Given the description of an element on the screen output the (x, y) to click on. 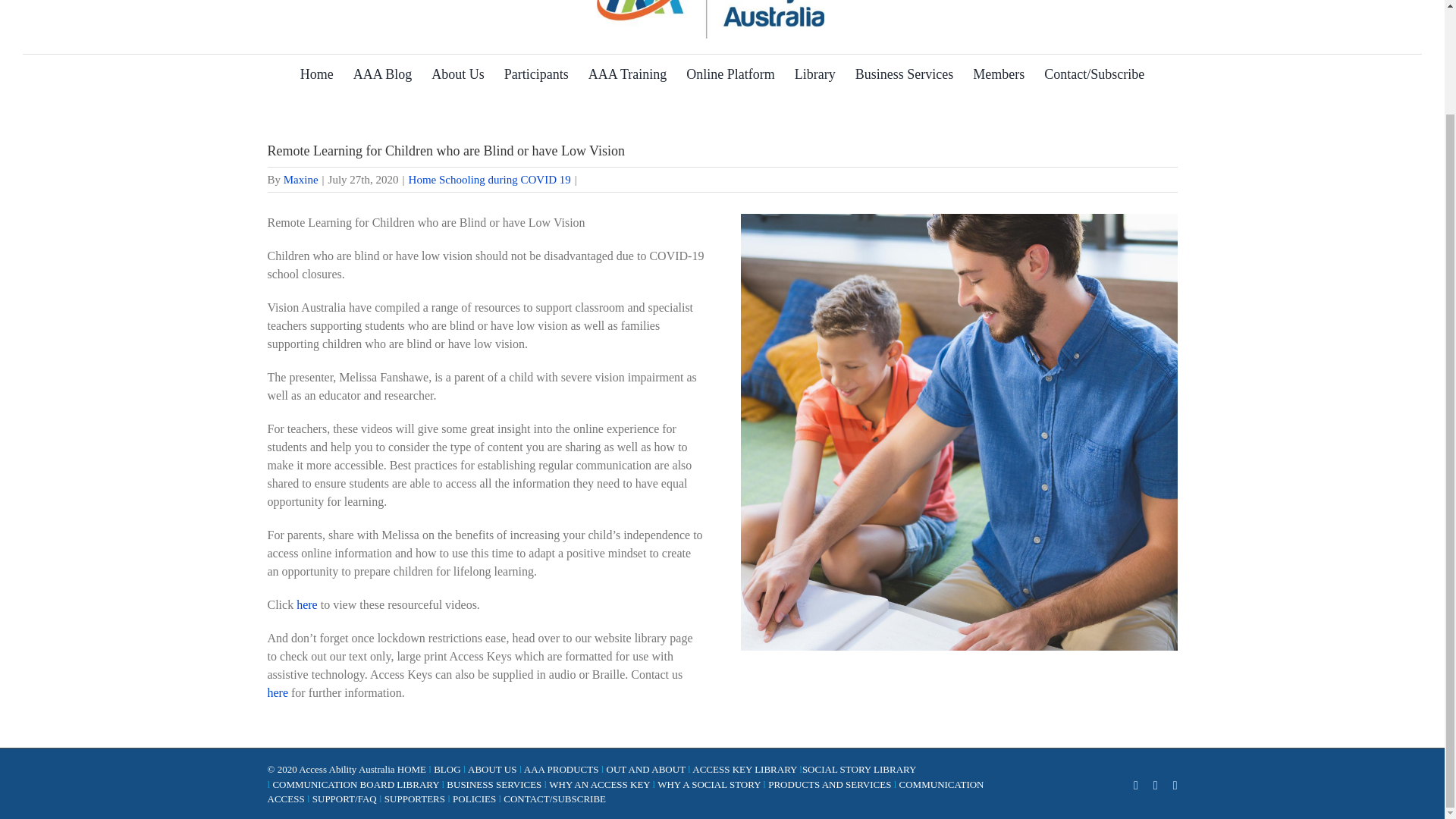
here (307, 604)
Participants (536, 74)
Posts by Maxine (300, 179)
Members (997, 74)
Maxine (300, 179)
Home Schooling during COVID 19 (489, 179)
Home (316, 74)
About Us (458, 74)
AAA Blog (382, 74)
Business Services (904, 74)
